Given the description of an element on the screen output the (x, y) to click on. 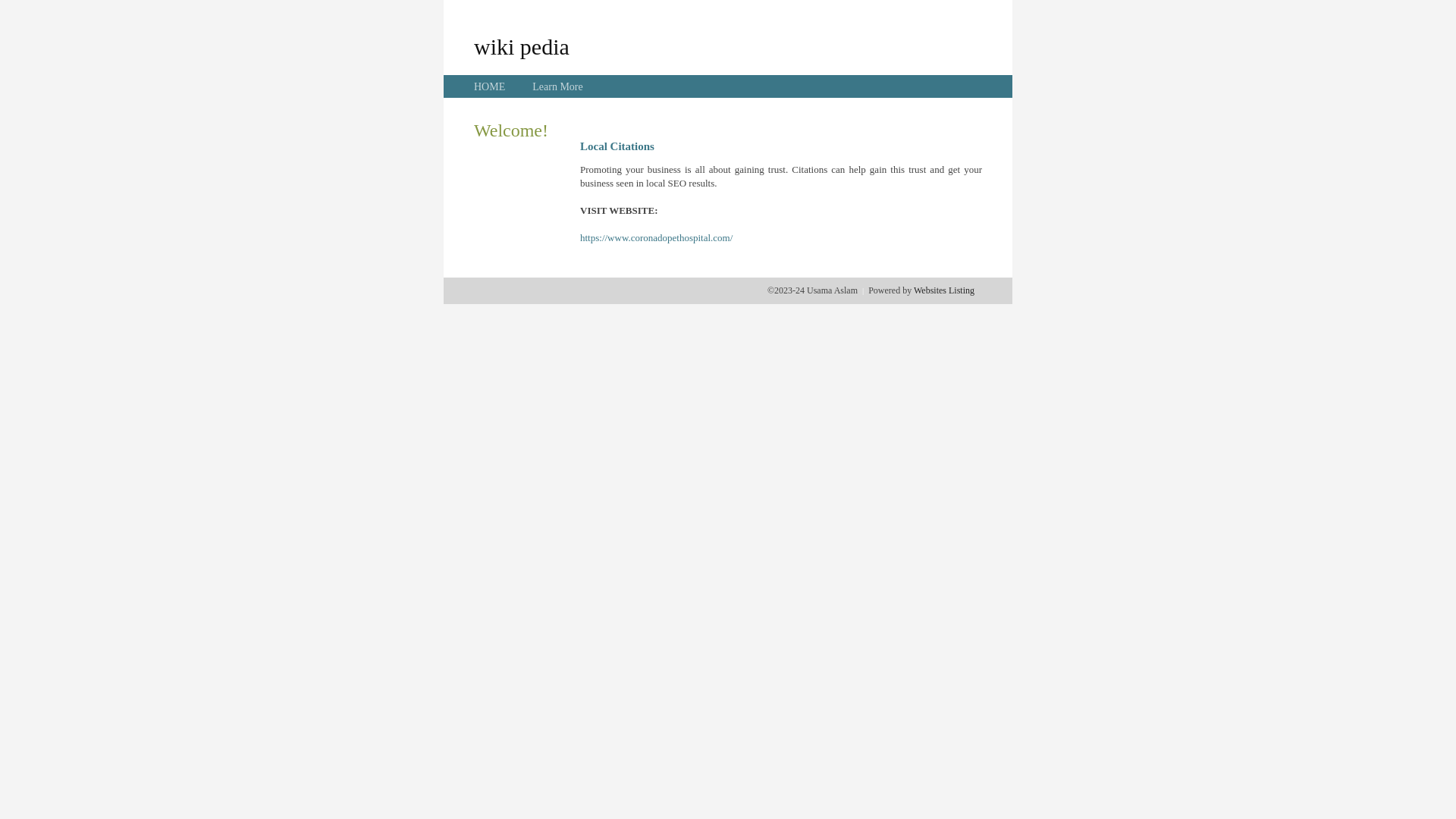
HOME Element type: text (489, 86)
wiki pedia Element type: text (521, 46)
https://www.coronadopethospital.com/ Element type: text (656, 237)
Websites Listing Element type: text (943, 290)
Learn More Element type: text (557, 86)
